Given the description of an element on the screen output the (x, y) to click on. 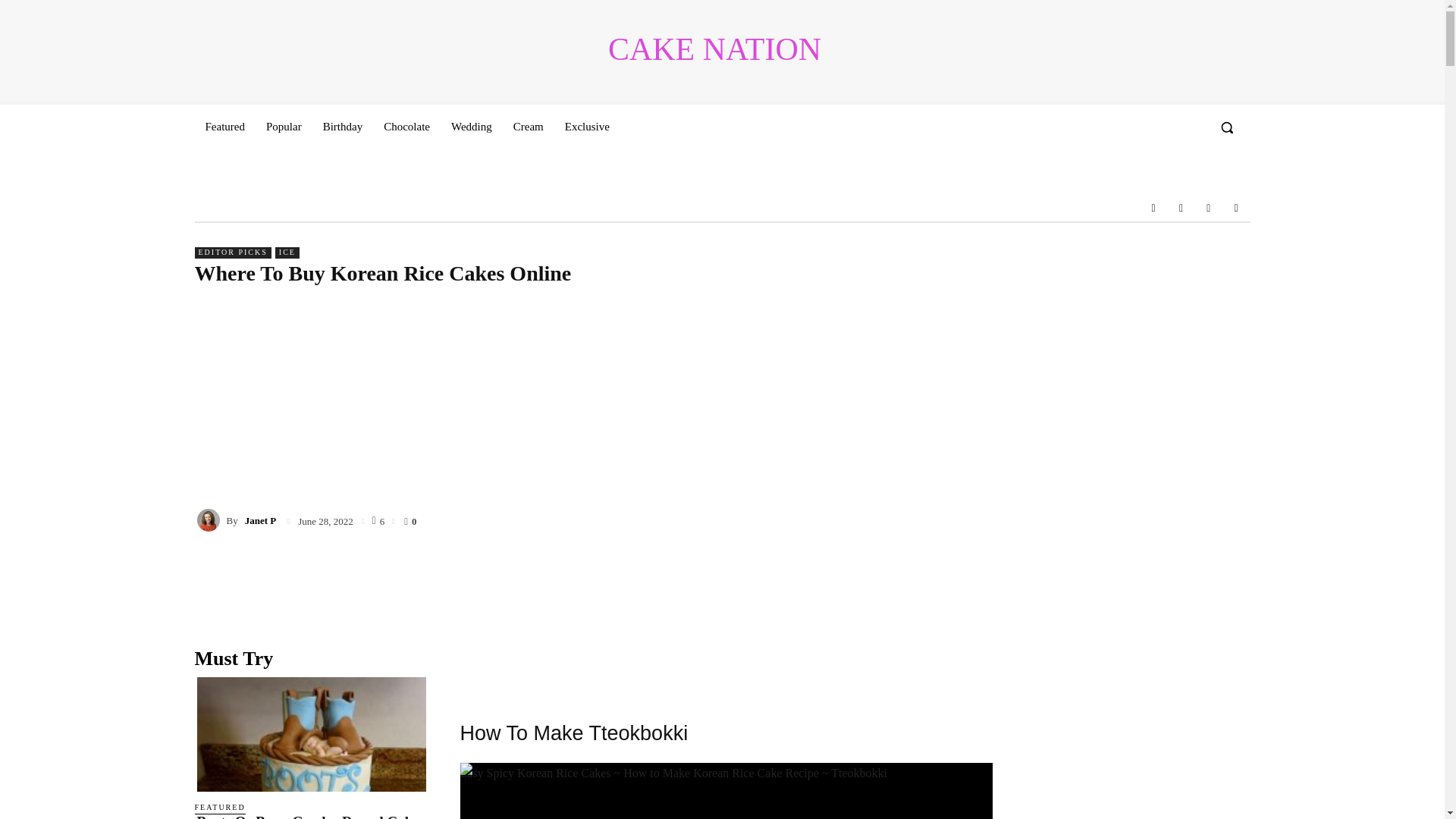
Instagram (1180, 207)
Featured (223, 126)
Exclusive (587, 126)
Wedding (471, 126)
Cream (528, 126)
Facebook (1153, 207)
Popular (284, 126)
Chocolate (406, 126)
Youtube (1236, 207)
Birthday (343, 126)
